Given the description of an element on the screen output the (x, y) to click on. 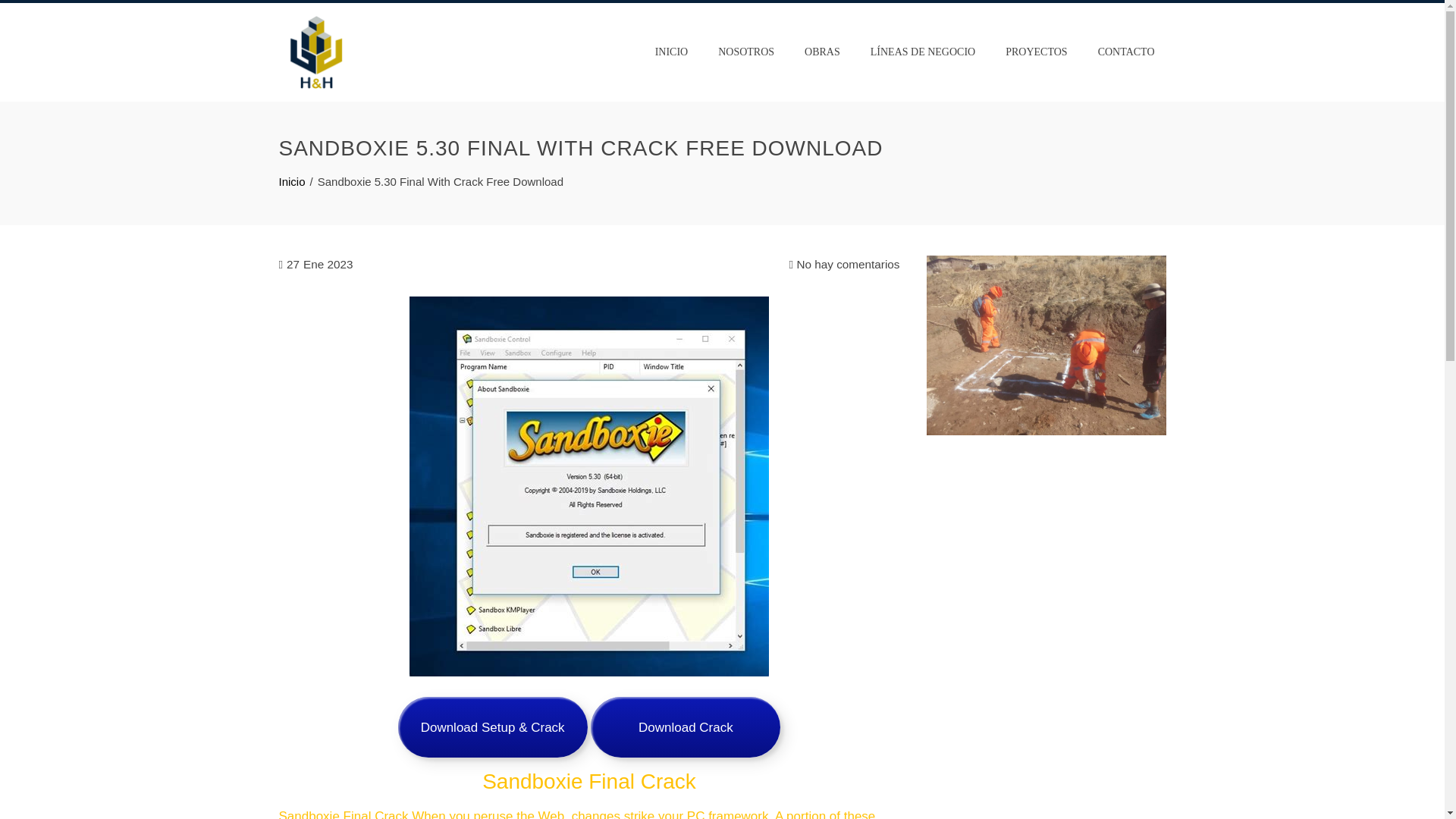
PROYECTOS (1036, 52)
NOSOTROS (746, 52)
INICIO (671, 52)
Download Crack (685, 726)
Inicio (292, 181)
No hay comentarios (844, 264)
CONTACTO (1126, 52)
OBRAS (822, 52)
